Given the description of an element on the screen output the (x, y) to click on. 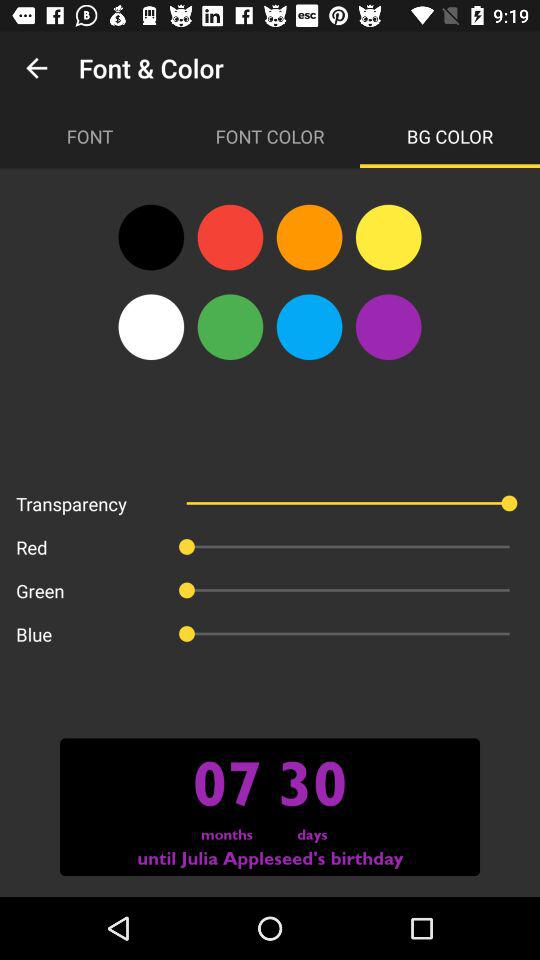
tap the item next to the font & color item (36, 68)
